Given the description of an element on the screen output the (x, y) to click on. 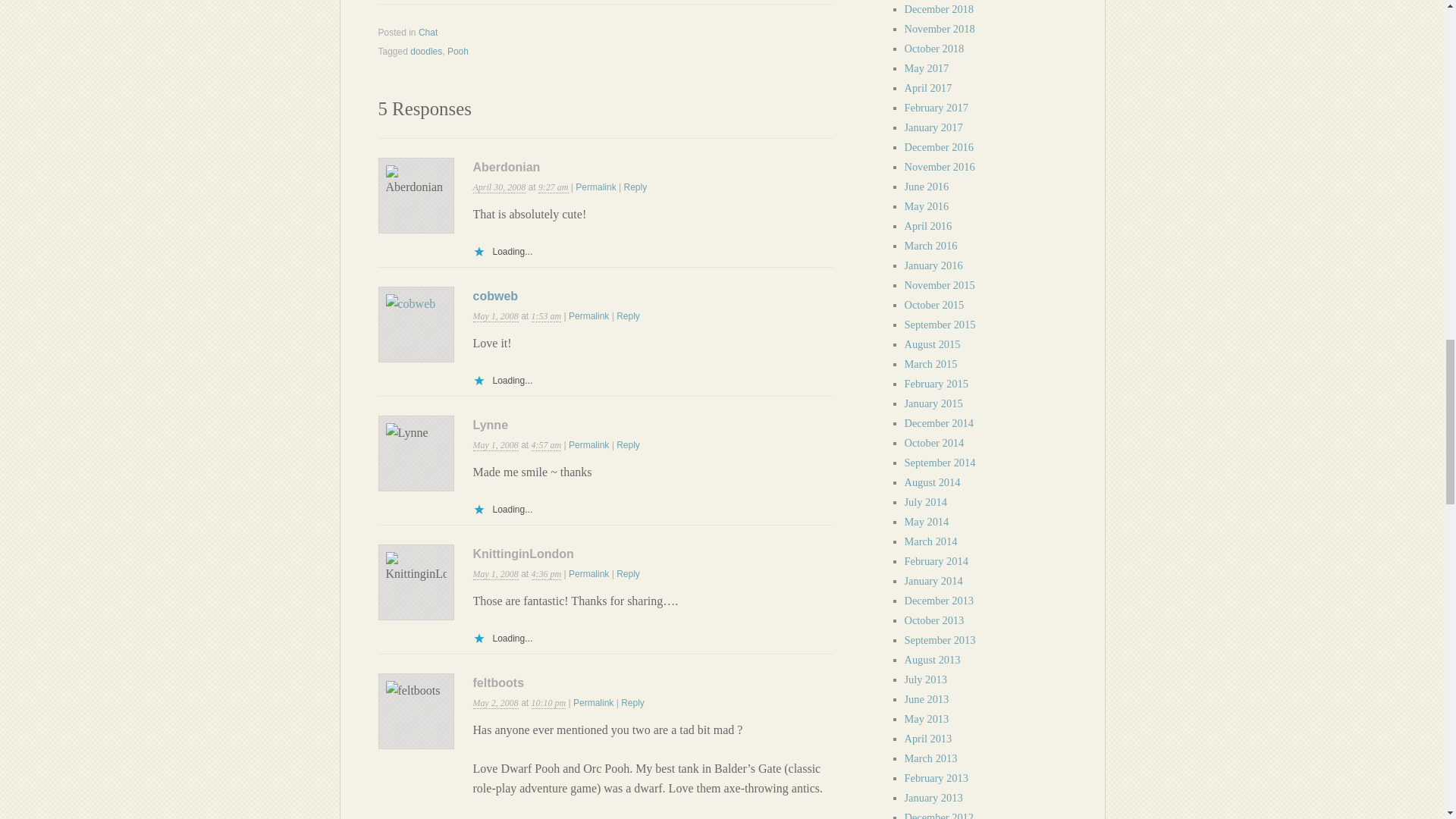
Permalink (588, 573)
Reply (627, 444)
Permalink (595, 186)
Chat (428, 32)
Permalink to comment 477 (595, 186)
Permalink (588, 316)
Wednesday, April 30th, 2008, 9:27 am (553, 187)
Reply (627, 316)
Reply (634, 186)
Wednesday, April 30th, 2008, 9:27 am (499, 187)
